Given the description of an element on the screen output the (x, y) to click on. 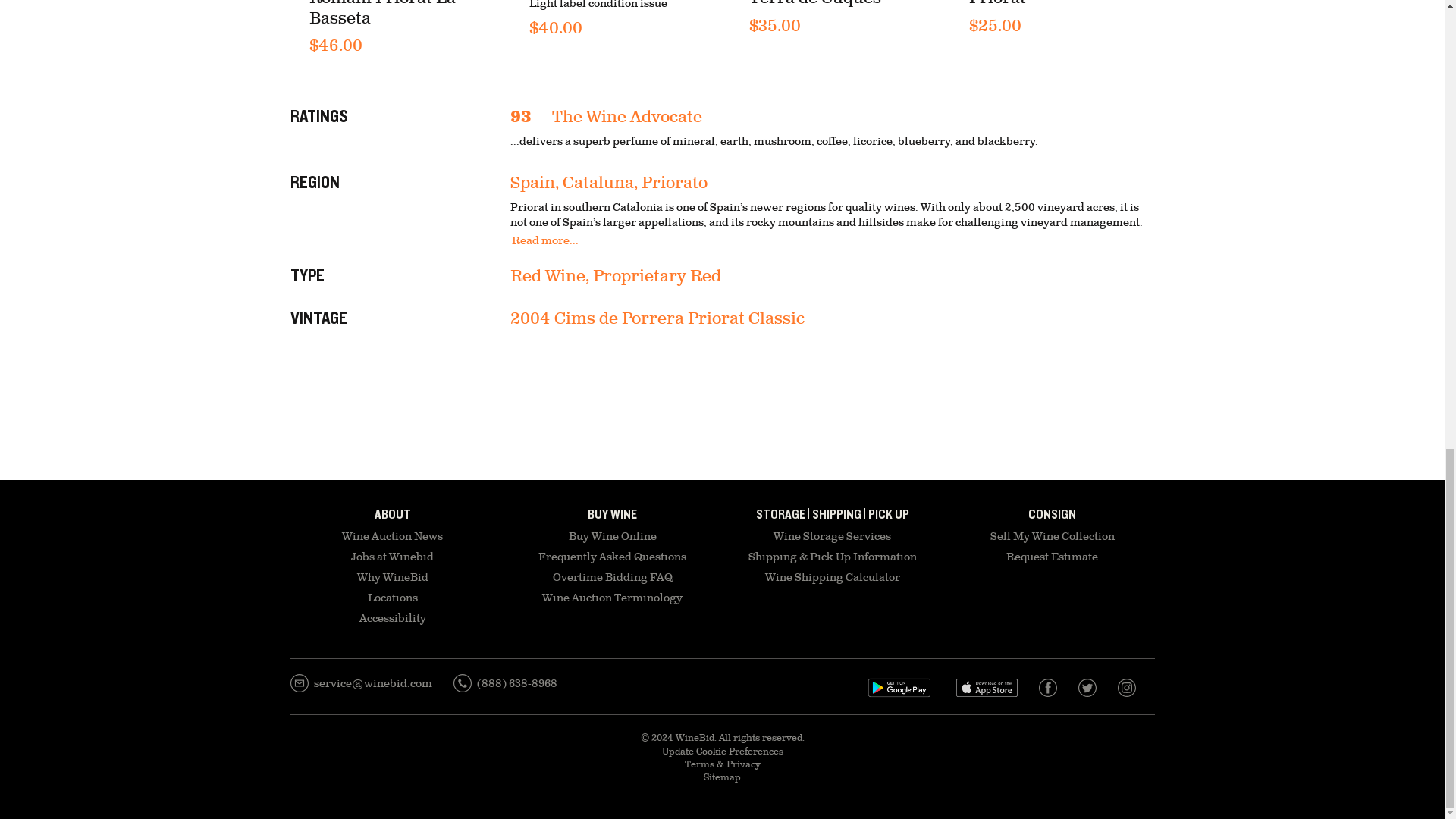
Download on the App Store (985, 688)
Email (359, 683)
Download on the App Store (898, 688)
Call WineBid about selling or buying fine wine. (504, 683)
